Given the description of an element on the screen output the (x, y) to click on. 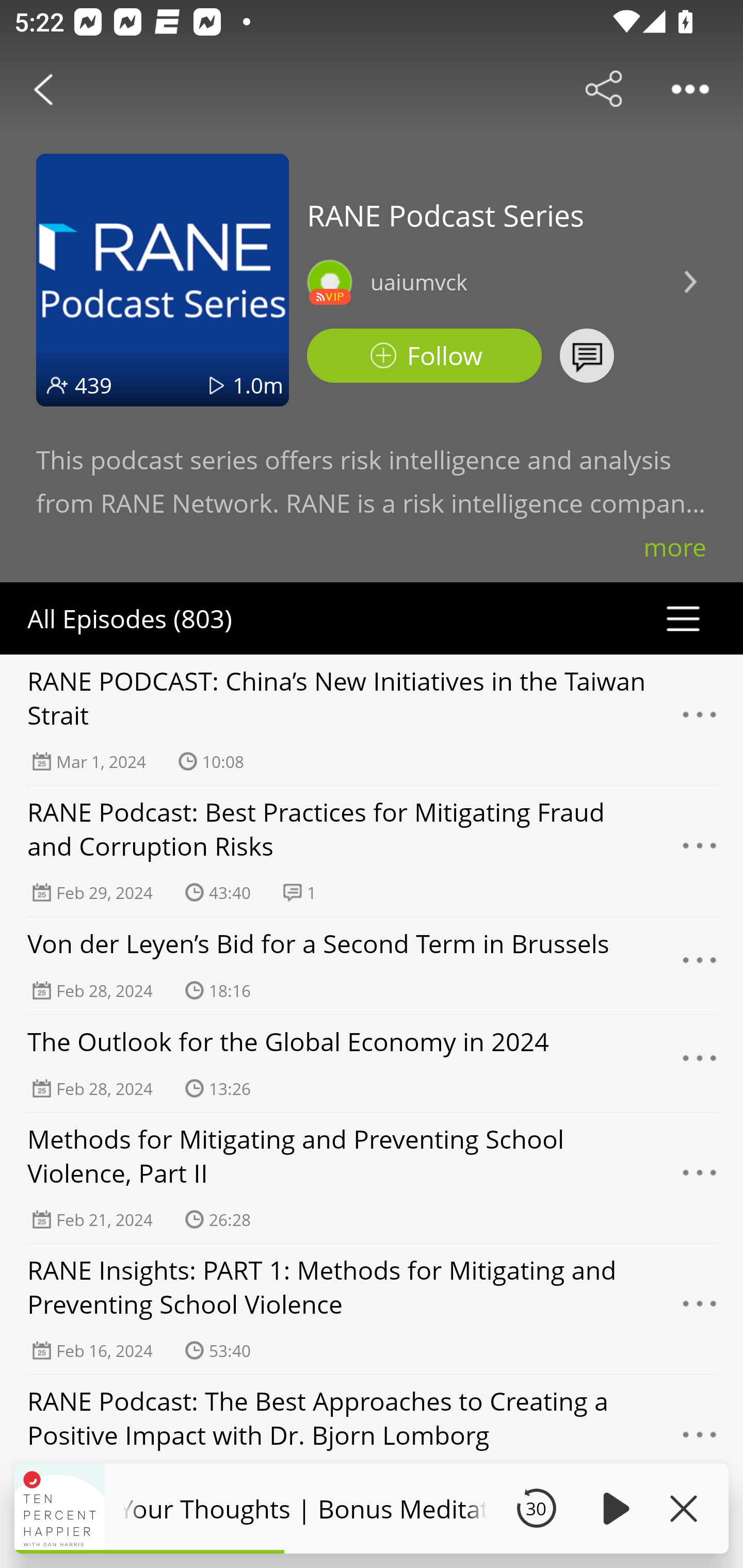
Back (43, 88)
Podbean Follow (423, 355)
439 (93, 384)
more (674, 546)
Menu (699, 720)
Menu (699, 850)
Menu (699, 964)
Menu (699, 1063)
Menu (699, 1178)
Menu (699, 1308)
Menu (699, 1440)
Play (613, 1507)
30 Seek Backward (536, 1508)
